Given the description of an element on the screen output the (x, y) to click on. 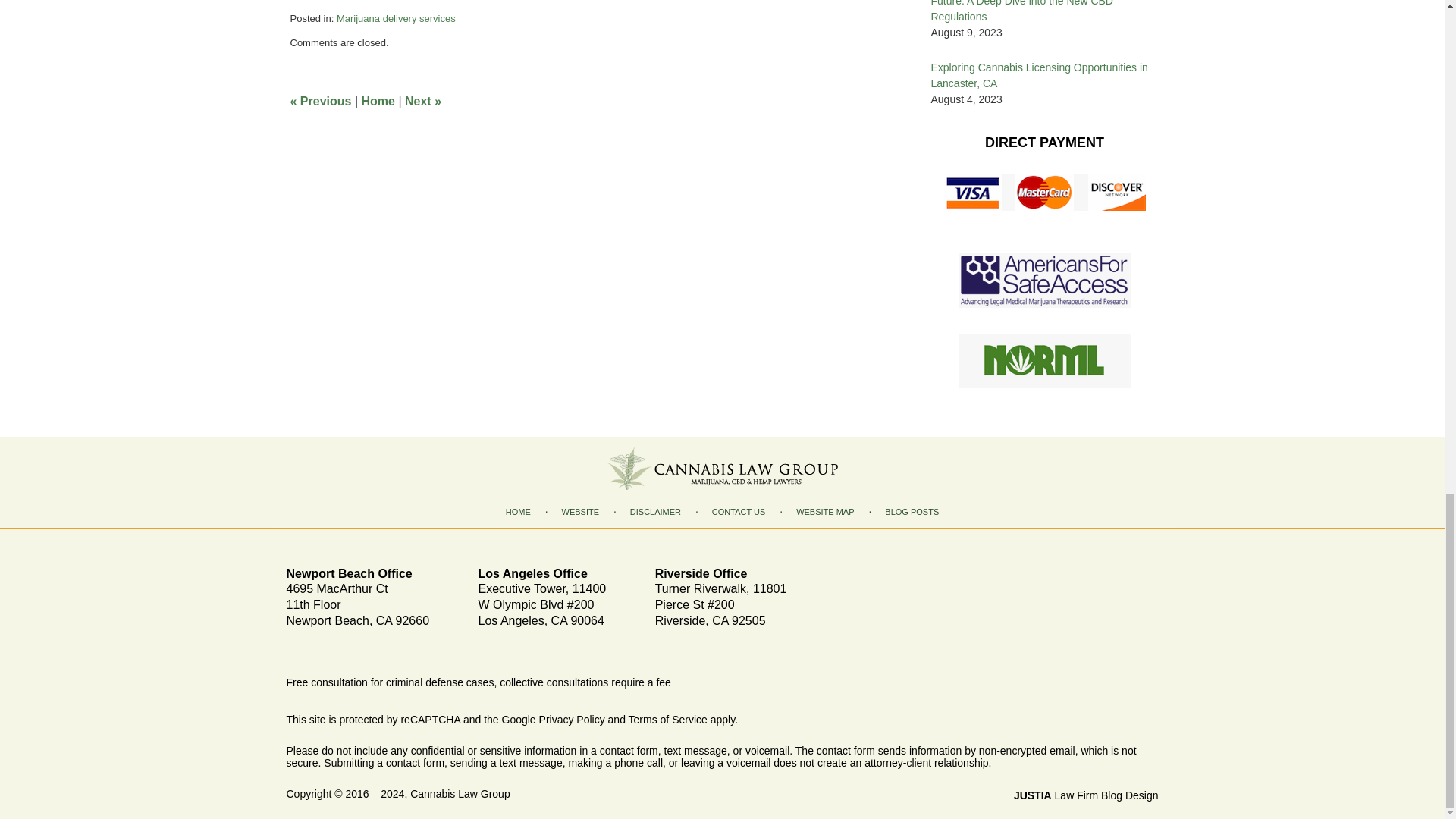
View all posts in Marijuana delivery services (395, 18)
